Given the description of an element on the screen output the (x, y) to click on. 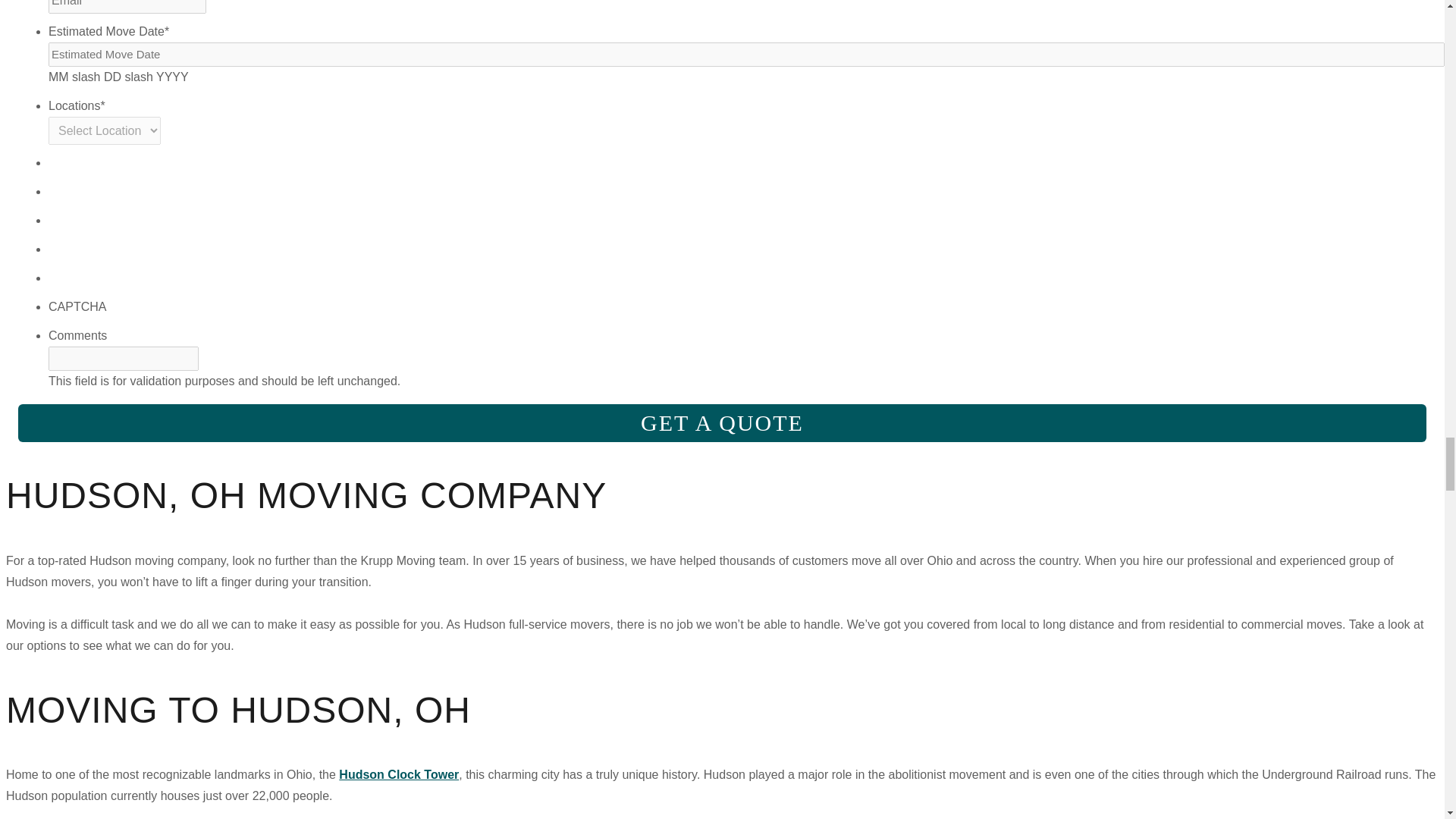
GET A QUOTE (721, 423)
